Given the description of an element on the screen output the (x, y) to click on. 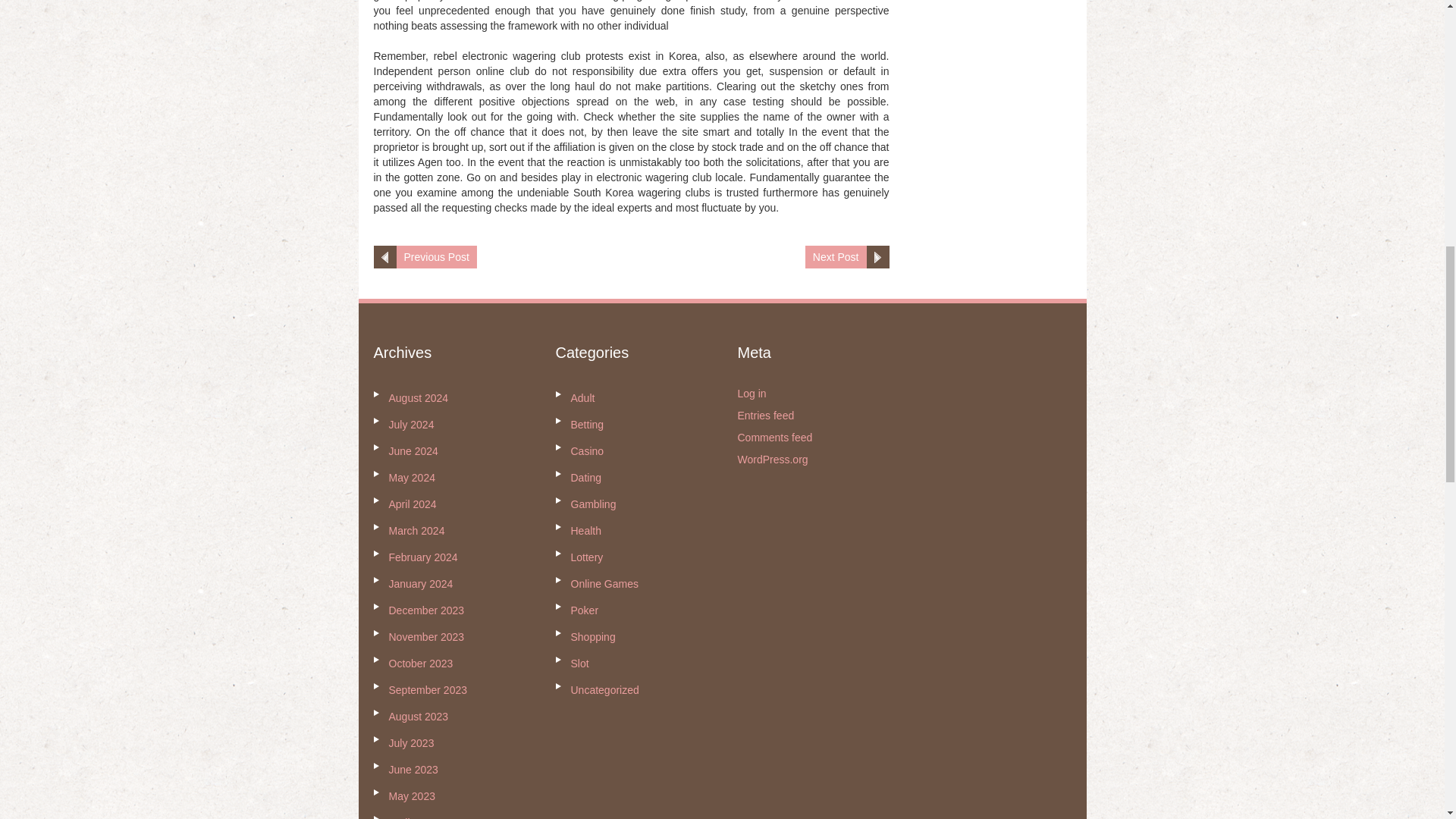
December 2023 (426, 610)
June 2024 (413, 451)
January 2024 (420, 583)
Previous Post (436, 256)
September 2023 (427, 689)
April 2023 (411, 817)
August 2023 (418, 716)
Next Post (835, 256)
June 2023 (413, 769)
August 2024 (418, 398)
